Given the description of an element on the screen output the (x, y) to click on. 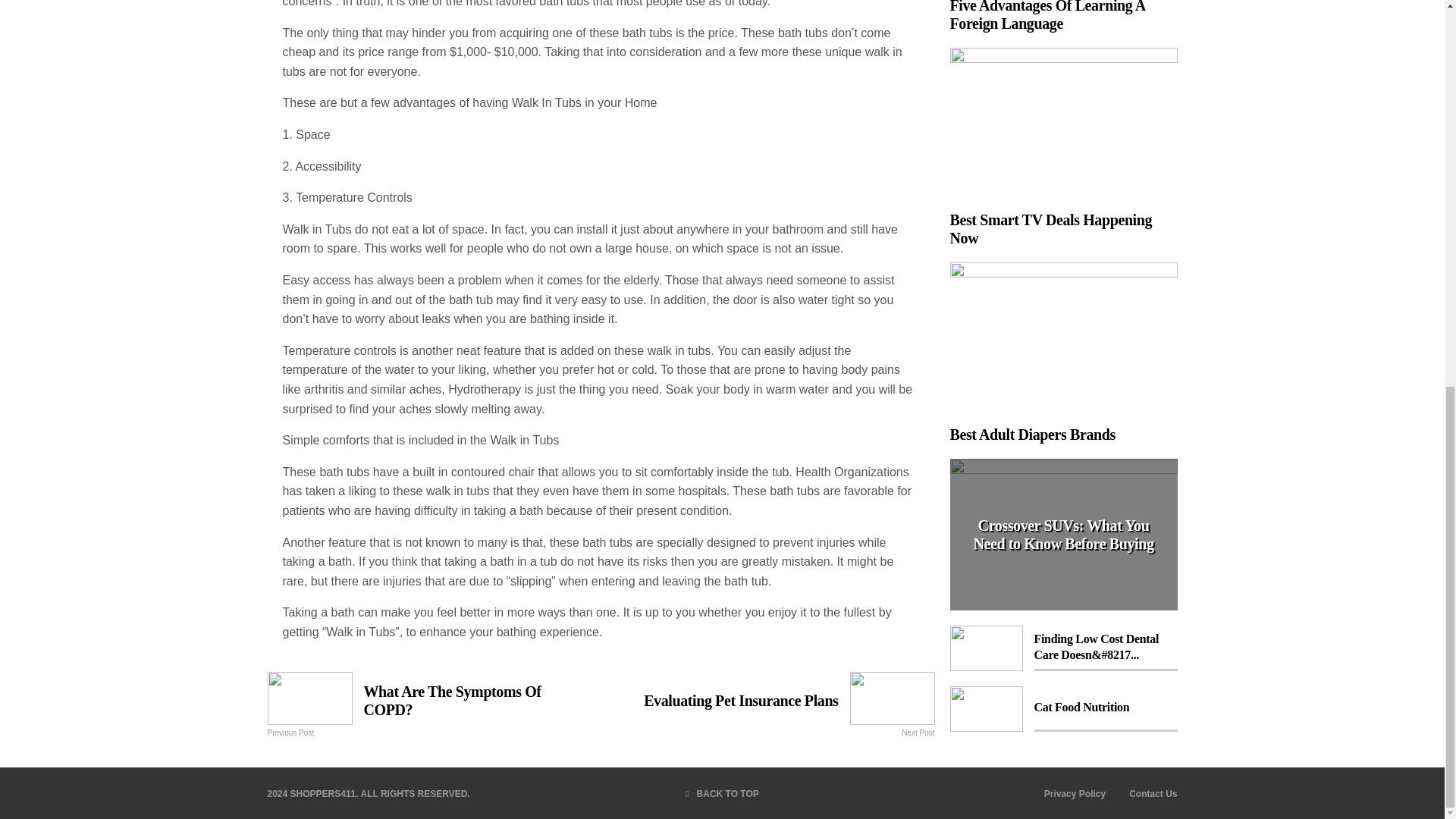
Cat Food Nutrition (1062, 709)
Best Smart TV Deals Happening Now (1062, 147)
Best Adult Diapers Brands (1062, 352)
Privacy Policy (429, 699)
BACK TO TOP (1074, 793)
Crossover SUVs: What You Need to Know Before Buying (721, 793)
Contact Us (1062, 534)
Five Advantages Of Learning A Foreign Language (1152, 793)
